Given the description of an element on the screen output the (x, y) to click on. 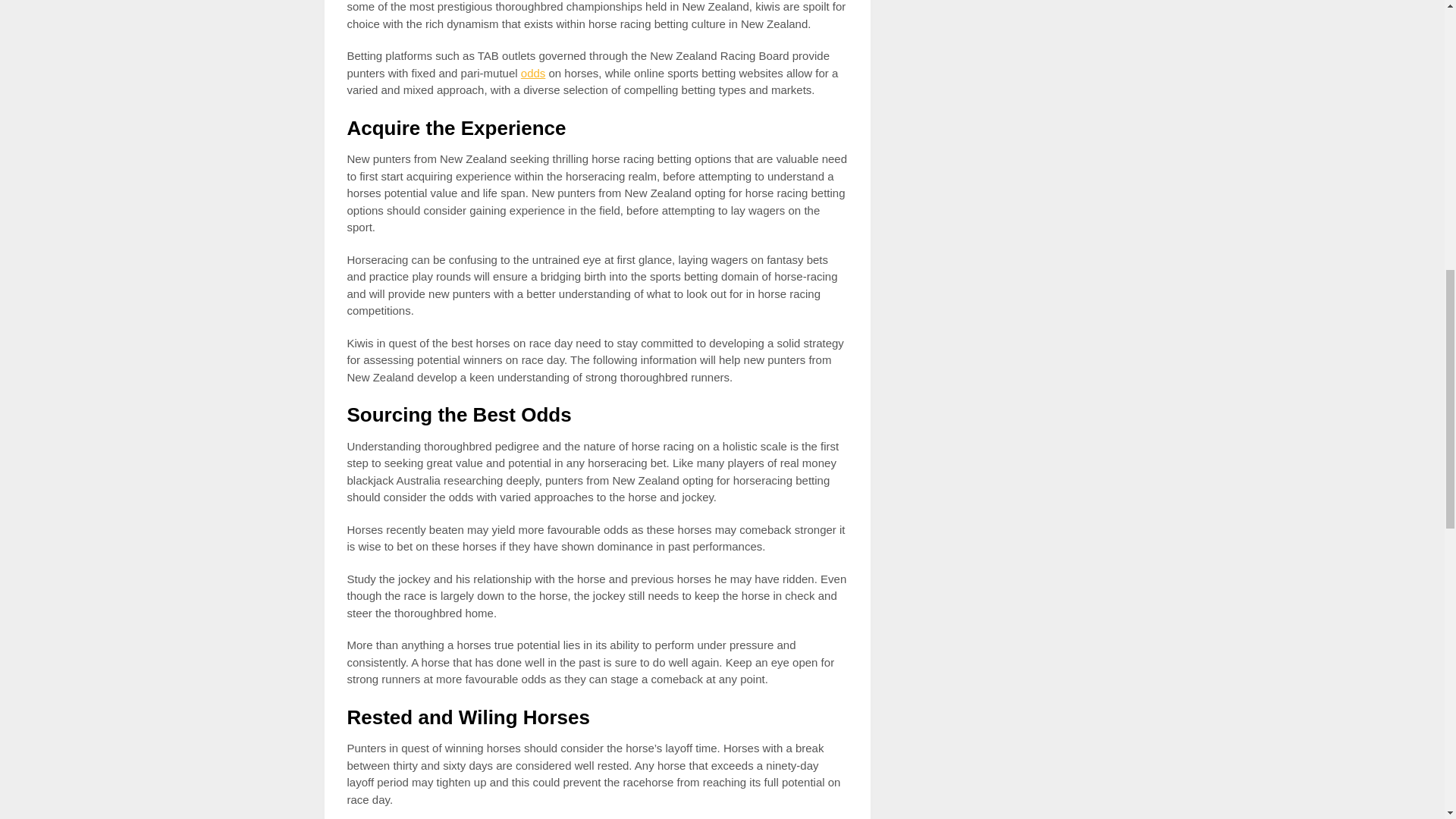
odds (533, 72)
